Given the description of an element on the screen output the (x, y) to click on. 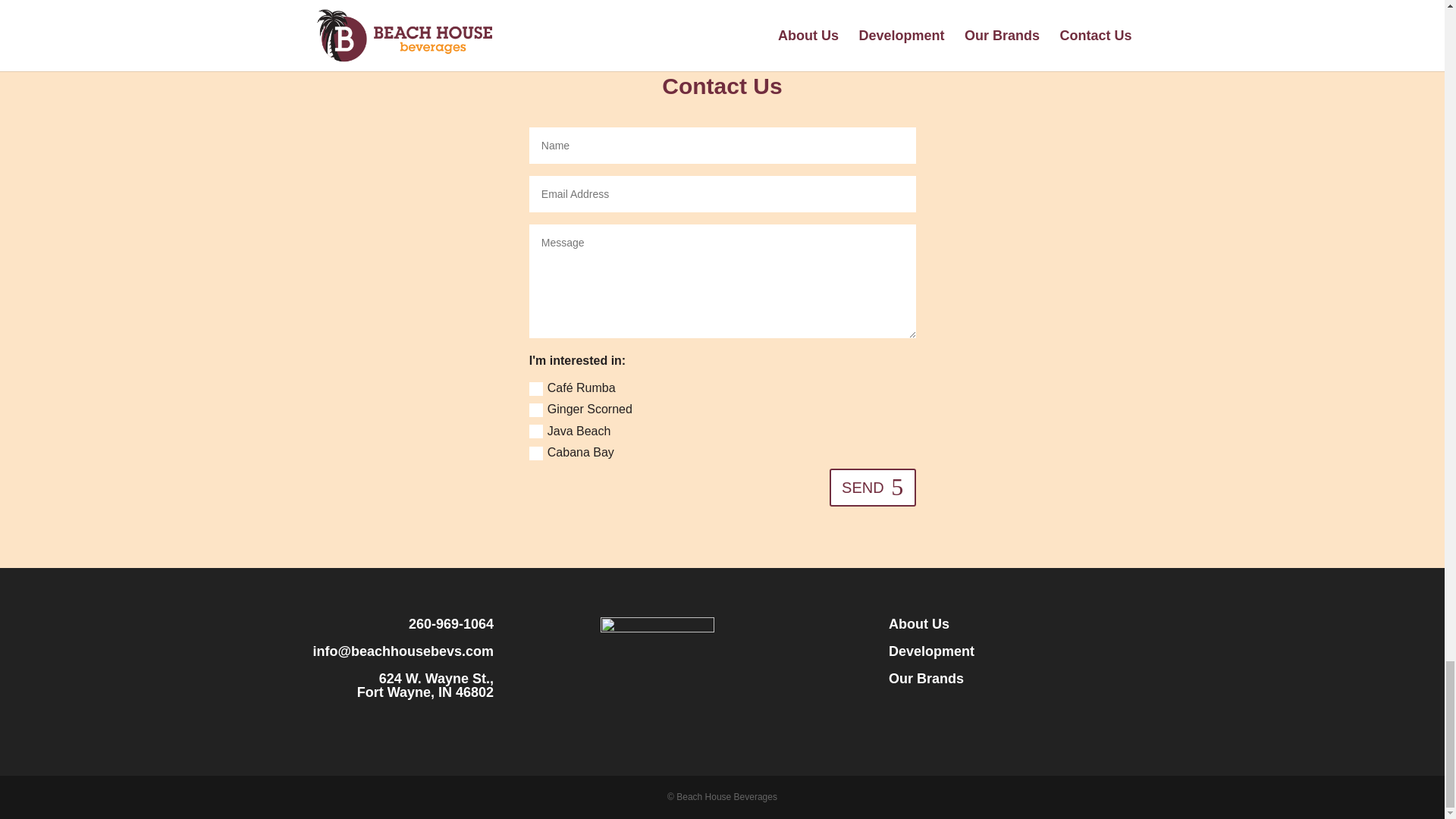
About Us (918, 623)
SEND (872, 487)
Development (931, 651)
Our Brands (925, 678)
